Given the description of an element on the screen output the (x, y) to click on. 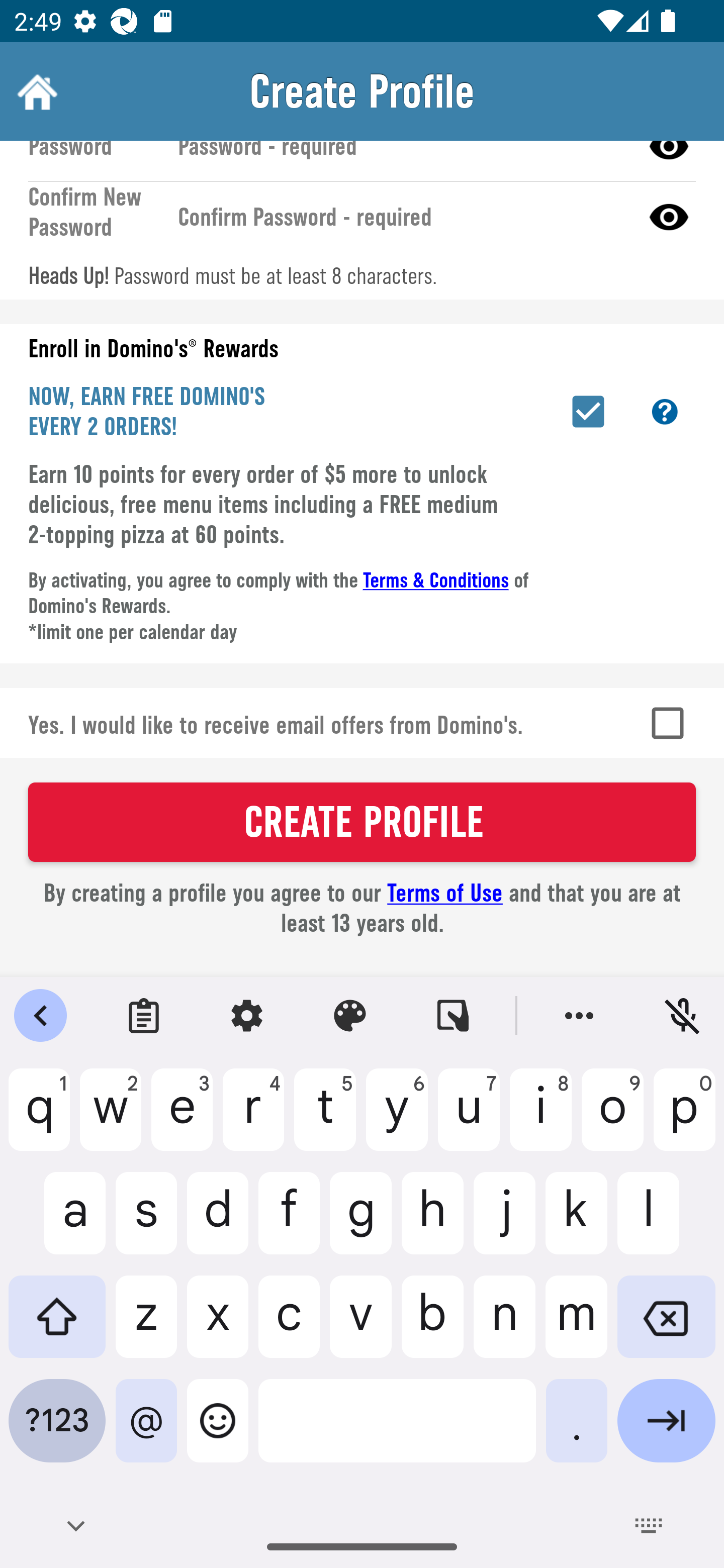
Home (35, 91)
Confirm Password - required (401, 216)
Show Password (668, 217)
Enroll in Piece of the Pie Rewards (588, 411)
CREATE PROFILE (361, 822)
